Given the description of an element on the screen output the (x, y) to click on. 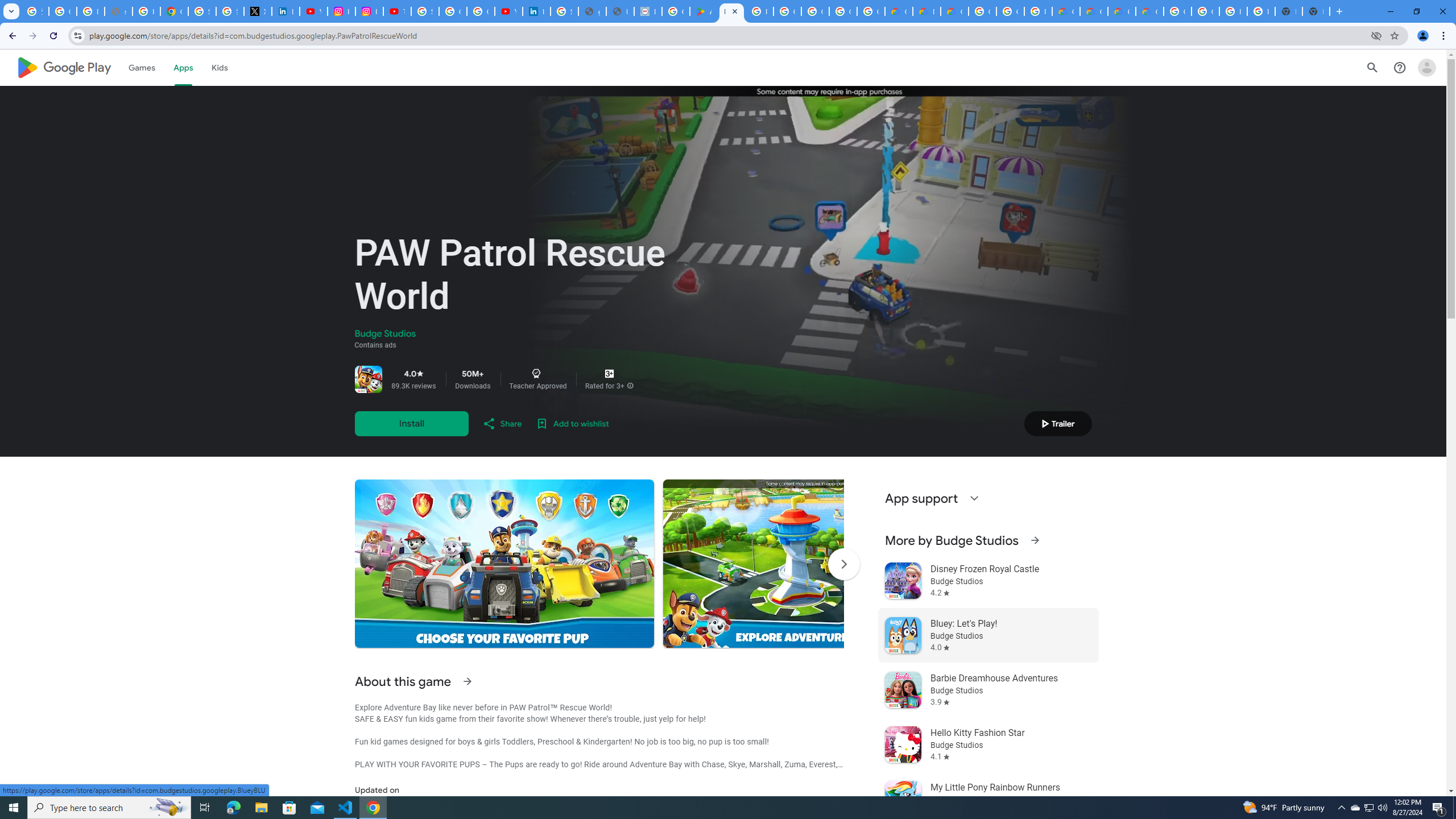
google_privacy_policy_en.pdf (592, 11)
Help Center (1399, 67)
Gemini for Business and Developers | Google Cloud (955, 11)
Google Workspace - Specific Terms (842, 11)
Google Cloud Pricing Calculator (1121, 11)
Budge Studios (384, 333)
